Given the description of an element on the screen output the (x, y) to click on. 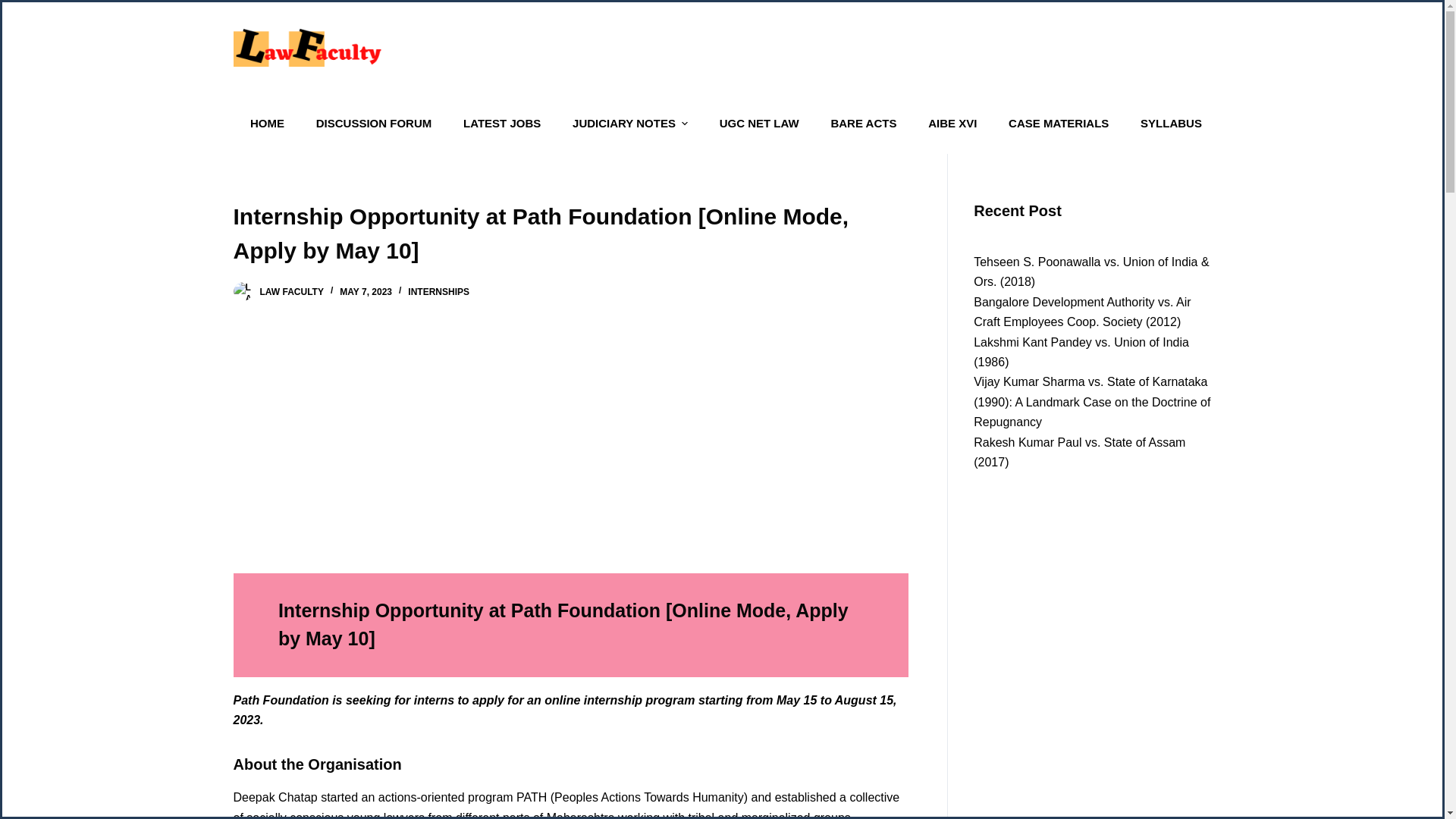
INTERNSHIPS (437, 291)
Posts by Law Faculty (291, 291)
Skip to content (15, 7)
JUDICIARY NOTES (630, 123)
SYLLABUS (1171, 123)
UGC NET LAW (759, 123)
DISCUSSION FORUM (373, 123)
BARE ACTS (863, 123)
LATEST JOBS (502, 123)
